Given the description of an element on the screen output the (x, y) to click on. 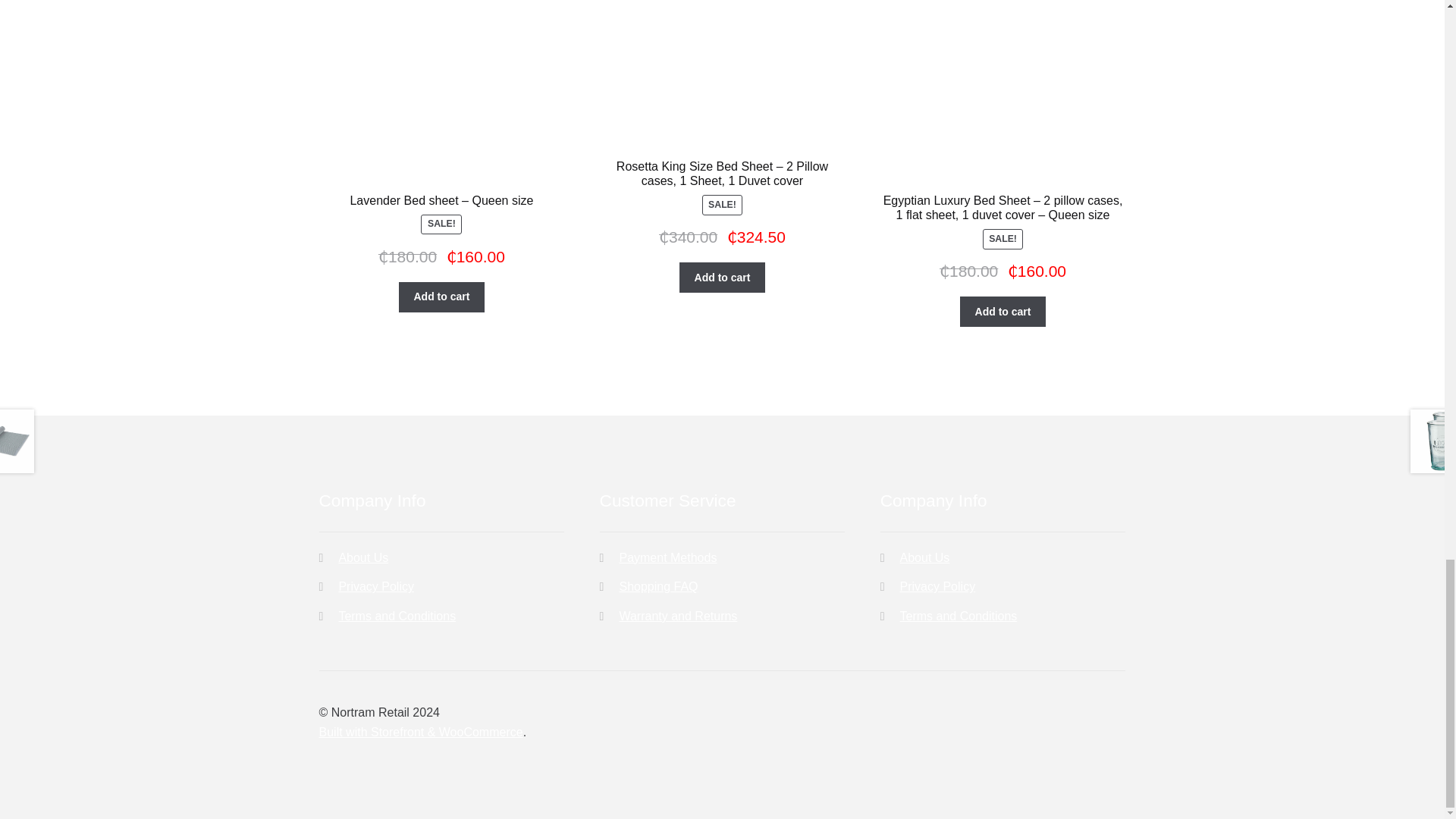
WooCommerce - The Best eCommerce Platform for WordPress (420, 731)
